Given the description of an element on the screen output the (x, y) to click on. 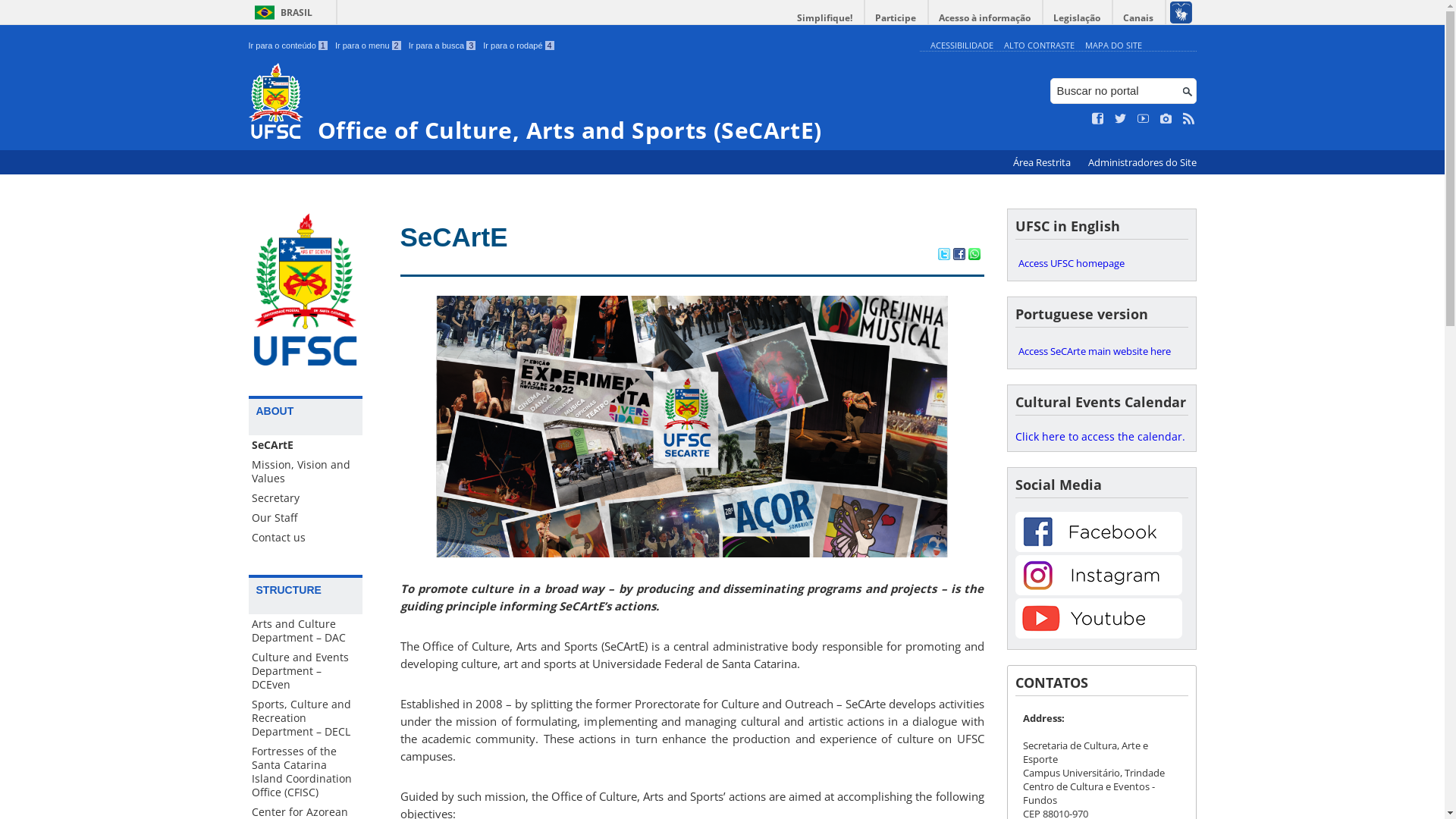
Ir para o menu 2 Element type: text (368, 45)
Compartilhar no Facebook Element type: hover (958, 255)
Office of Culture, Arts and Sports (SeCArtE) Element type: text (580, 102)
Simplifique! Element type: text (825, 18)
Contact us Element type: text (305, 537)
Access UFSC homepage Element type: text (1100, 263)
Canais Element type: text (1138, 18)
Participe Element type: text (895, 18)
SeCArtE Element type: text (454, 236)
Curta no Facebook Element type: hover (1098, 118)
Veja no Instagram Element type: hover (1166, 118)
Administradores do Site Element type: text (1141, 162)
Mission, Vision and Values Element type: text (305, 471)
Compartilhar no Twitter Element type: hover (943, 255)
ALTO CONTRASTE Element type: text (1039, 44)
Click here to access the calendar. Element type: text (1099, 436)
Access SeCArte main website here Element type: text (1100, 350)
BRASIL Element type: text (280, 12)
Compartilhar no WhatsApp Element type: hover (973, 255)
Siga no Twitter Element type: hover (1120, 118)
MAPA DO SITE Element type: text (1112, 44)
Our Staff Element type: text (305, 517)
Ir para a busca 3 Element type: text (442, 45)
SeCArtE Element type: text (305, 445)
ACESSIBILIDADE Element type: text (960, 44)
Secretary Element type: text (305, 498)
